Given the description of an element on the screen output the (x, y) to click on. 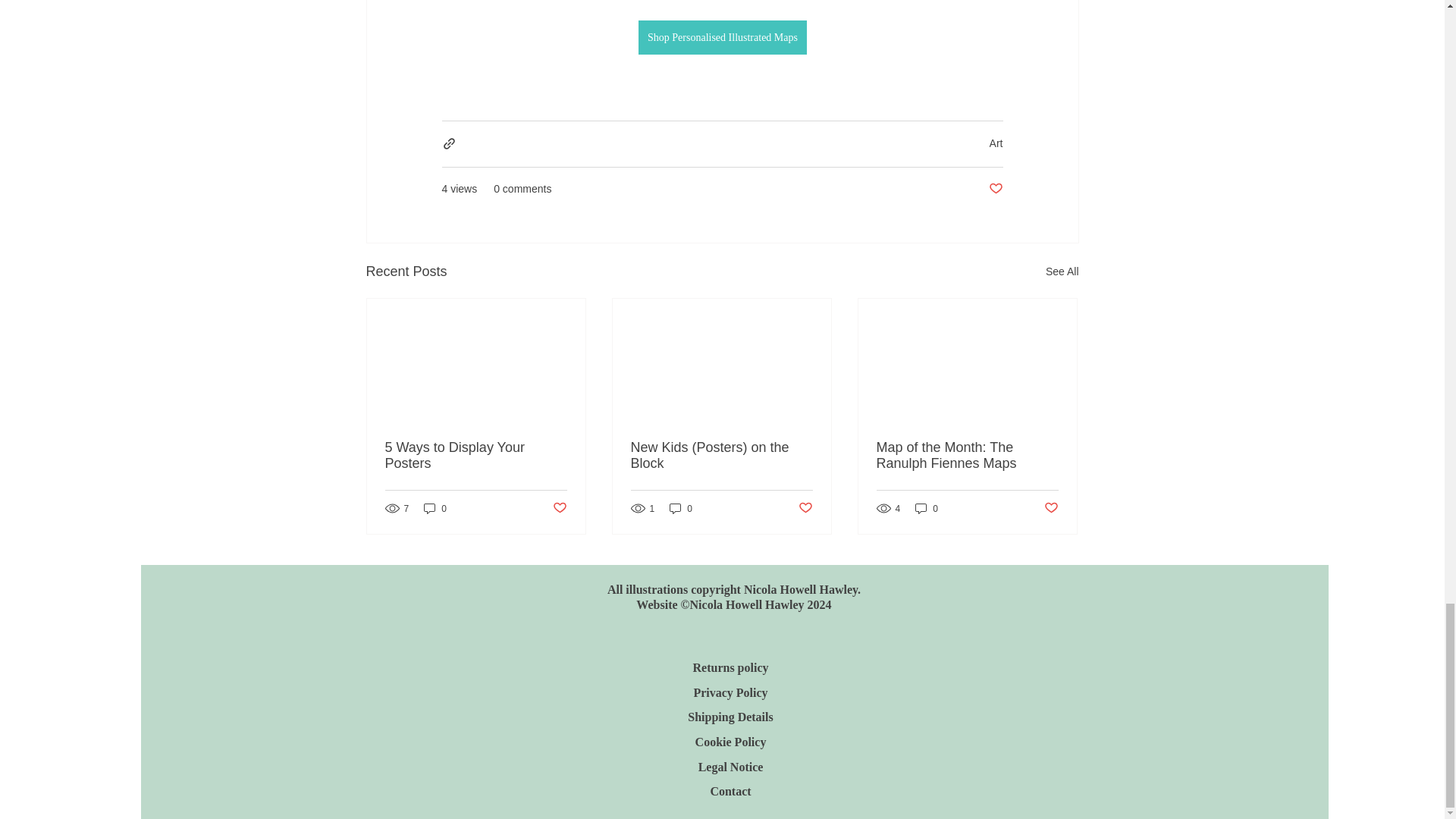
Shop Personalised Illustrated Maps (722, 37)
Art (996, 143)
See All (1061, 271)
5 Ways to Display Your Posters (476, 455)
Post not marked as liked (995, 188)
